Given the description of an element on the screen output the (x, y) to click on. 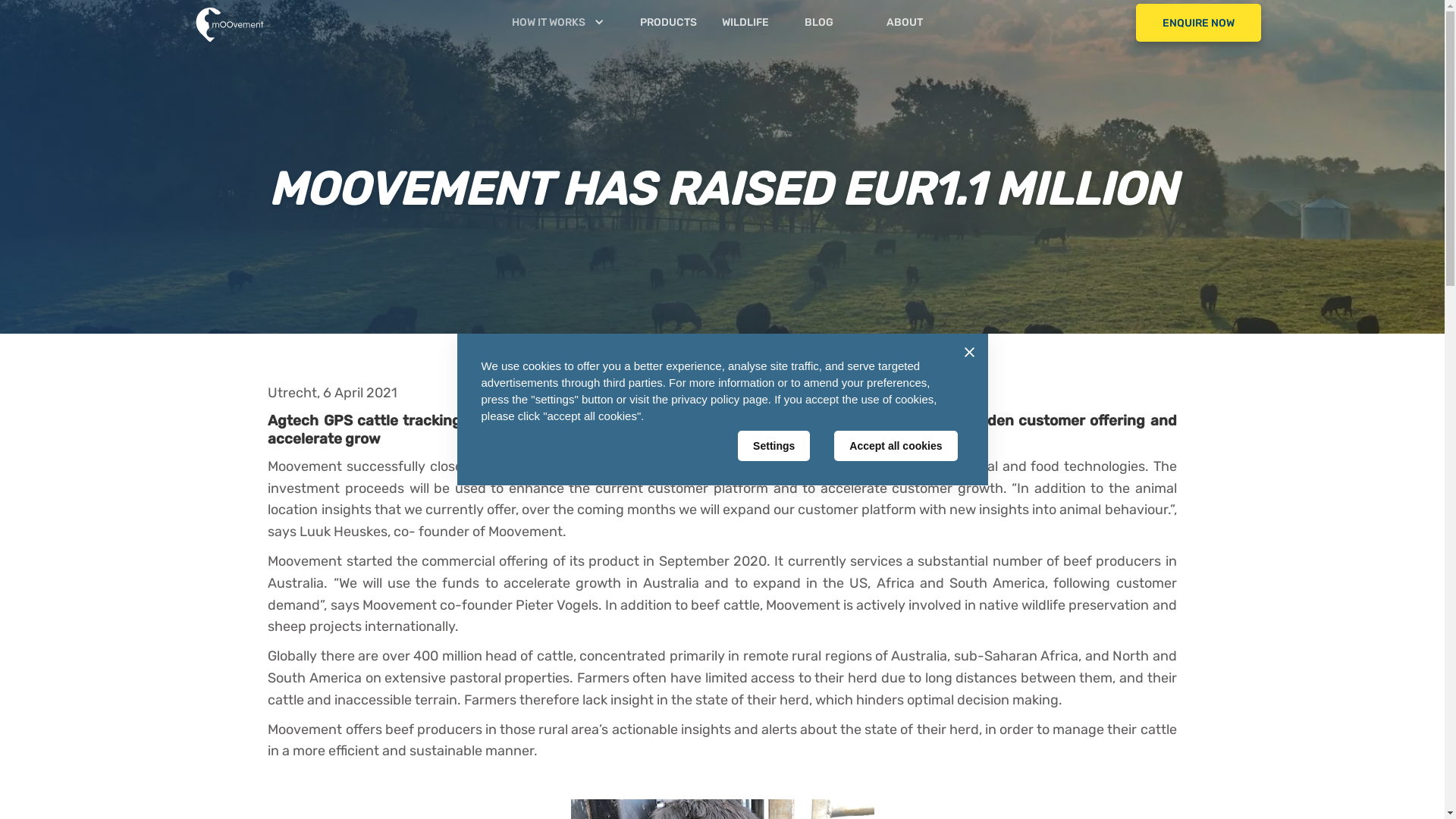
HOW IT WORKS Element type: text (548, 22)
Accept all cookies Element type: text (895, 445)
WILDLIFE Element type: text (762, 22)
Settings Element type: text (773, 445)
BLOG Element type: text (845, 22)
PRODUCTS Element type: text (680, 22)
ABOUT Element type: text (927, 22)
ENQUIRE NOW Element type: text (1198, 22)
